Given the description of an element on the screen output the (x, y) to click on. 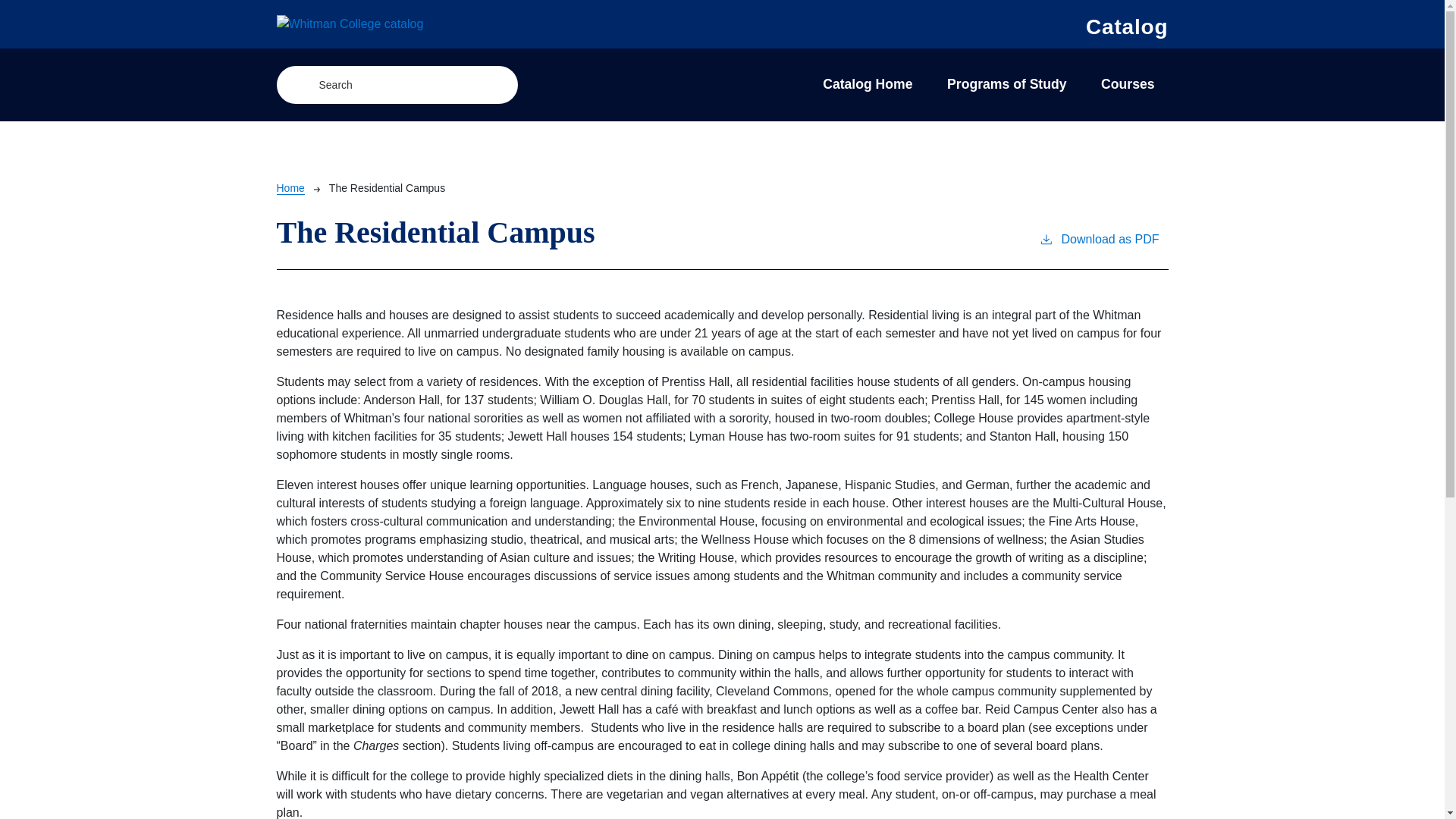
Catalog Home (867, 84)
Search (492, 84)
Search (492, 84)
Home (290, 187)
Any student, on-or off-campus, may purchase a meal plan. (716, 803)
Courses (1127, 84)
Download as PDF (1098, 249)
Programs of Study (1006, 84)
